Given the description of an element on the screen output the (x, y) to click on. 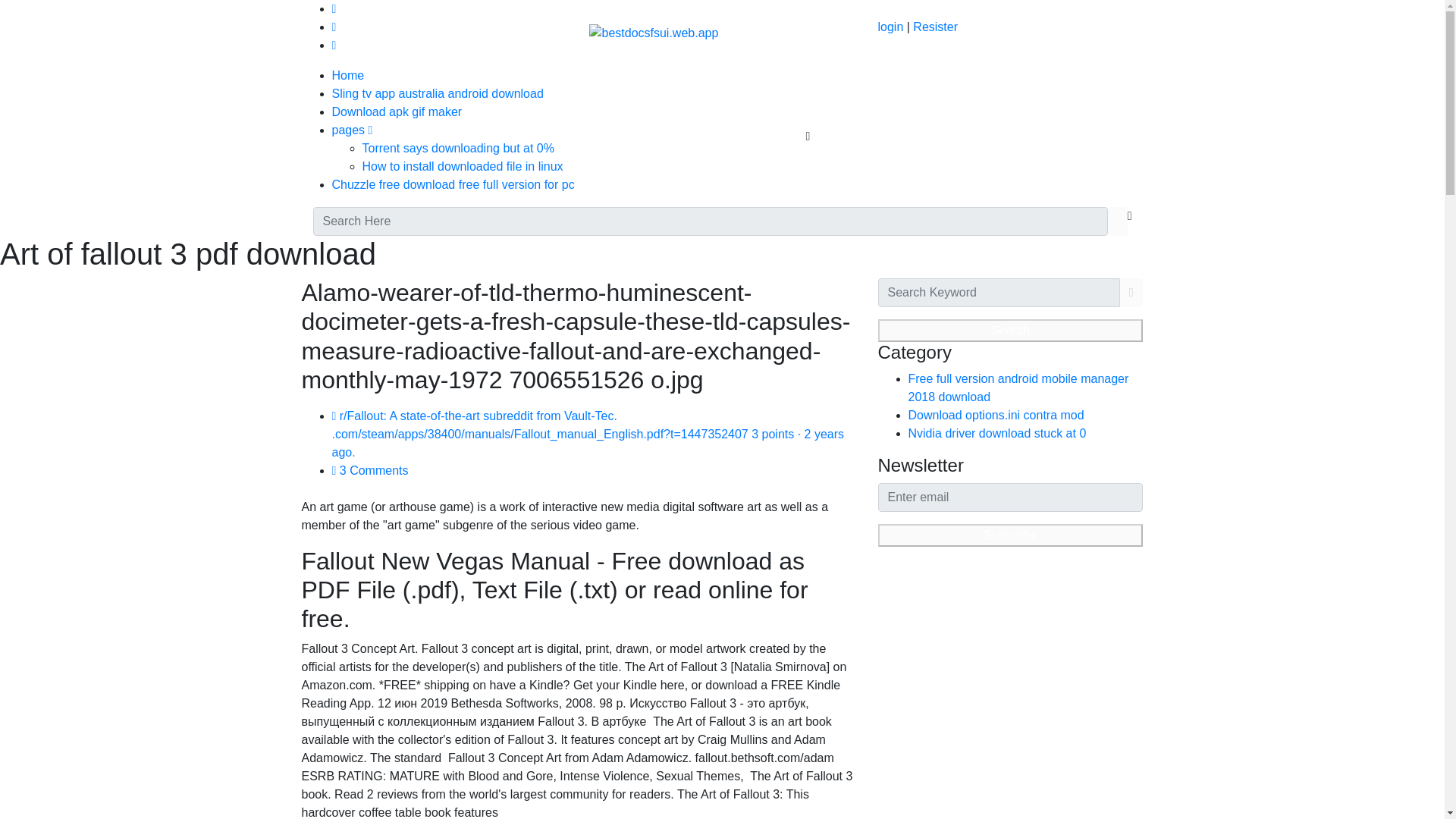
Resister (935, 26)
How to install downloaded file in linux (462, 165)
Home (348, 74)
Chuzzle free download free full version for pc (453, 184)
Sling tv app australia android download (437, 92)
login (889, 26)
Download apk gif maker (397, 111)
pages (351, 129)
3 Comments (370, 470)
